Given the description of an element on the screen output the (x, y) to click on. 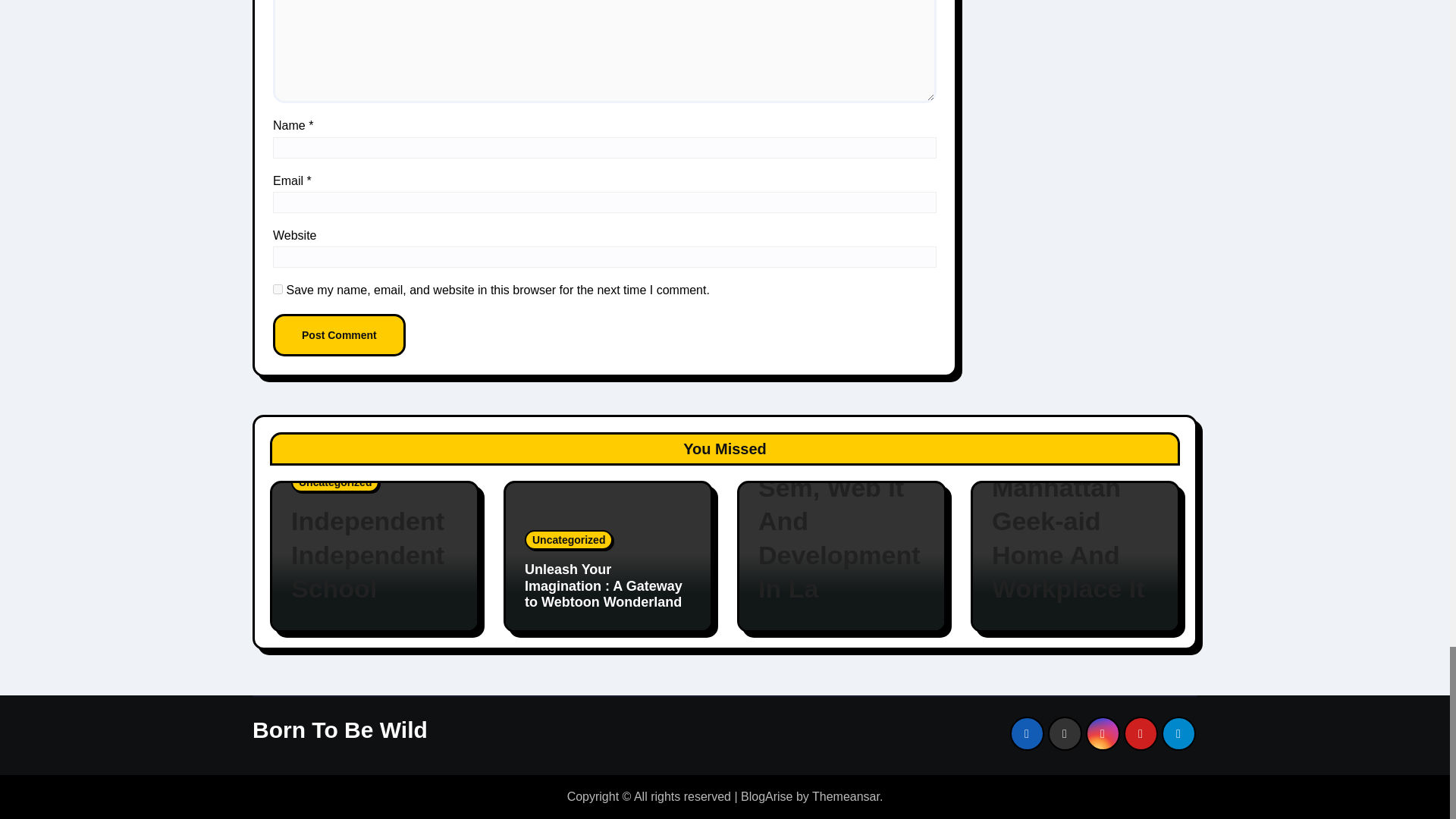
Post Comment (339, 334)
Permalink to: Independent Independent School (374, 554)
yes (277, 289)
